Given the description of an element on the screen output the (x, y) to click on. 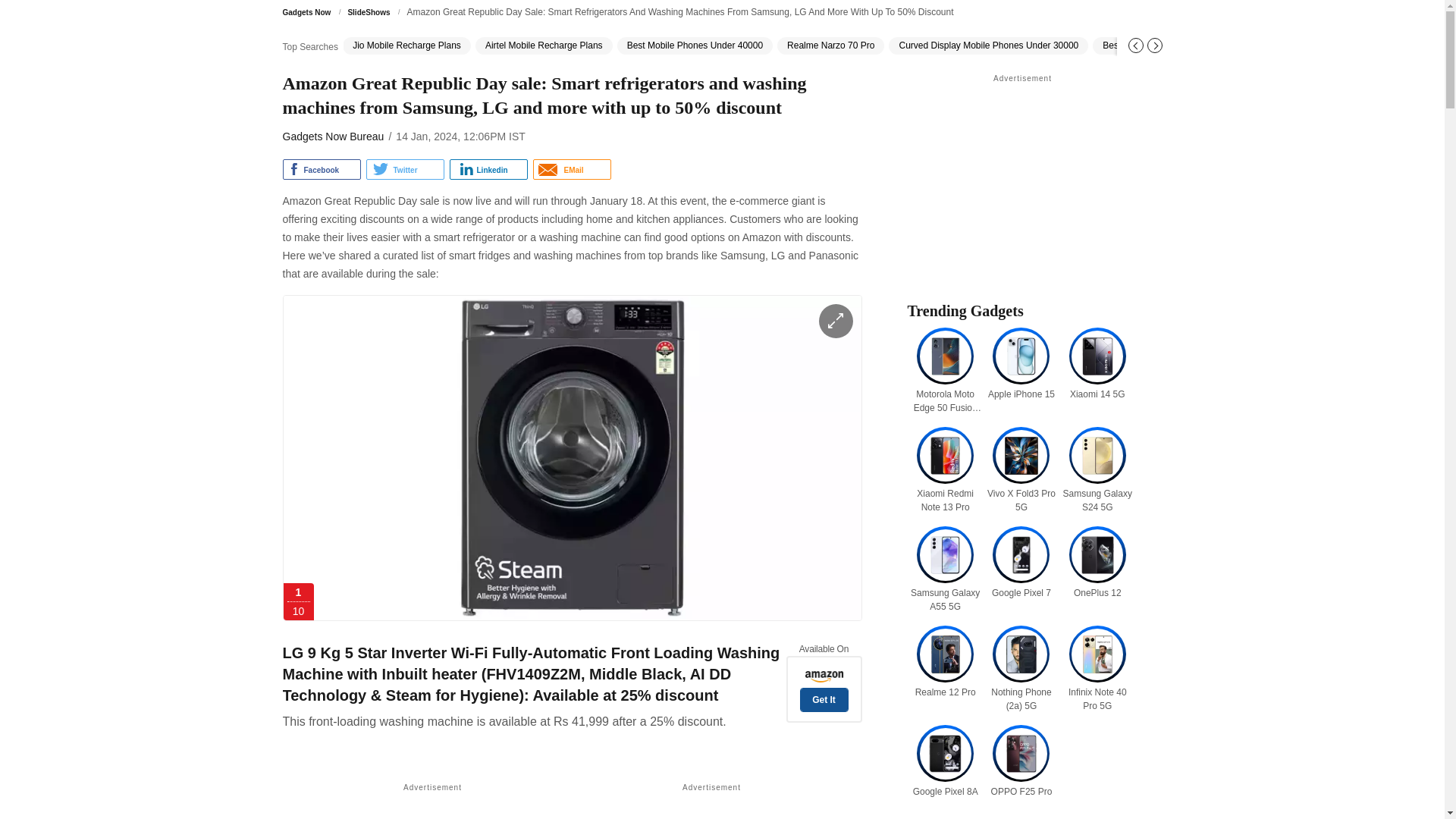
Gadgets Now (309, 11)
Previous (1135, 45)
Airtel Mobile Recharge Plans (544, 45)
Curved Display Mobile Phones Under 30000 (987, 45)
SlideShows (371, 11)
Realme Narzo 70 Pro (830, 45)
Jio Mobile Recharge Plans (406, 45)
Best Mobile Phones Under 40000 (695, 45)
Best Mobile Phones Under 25000 (1170, 45)
